Given the description of an element on the screen output the (x, y) to click on. 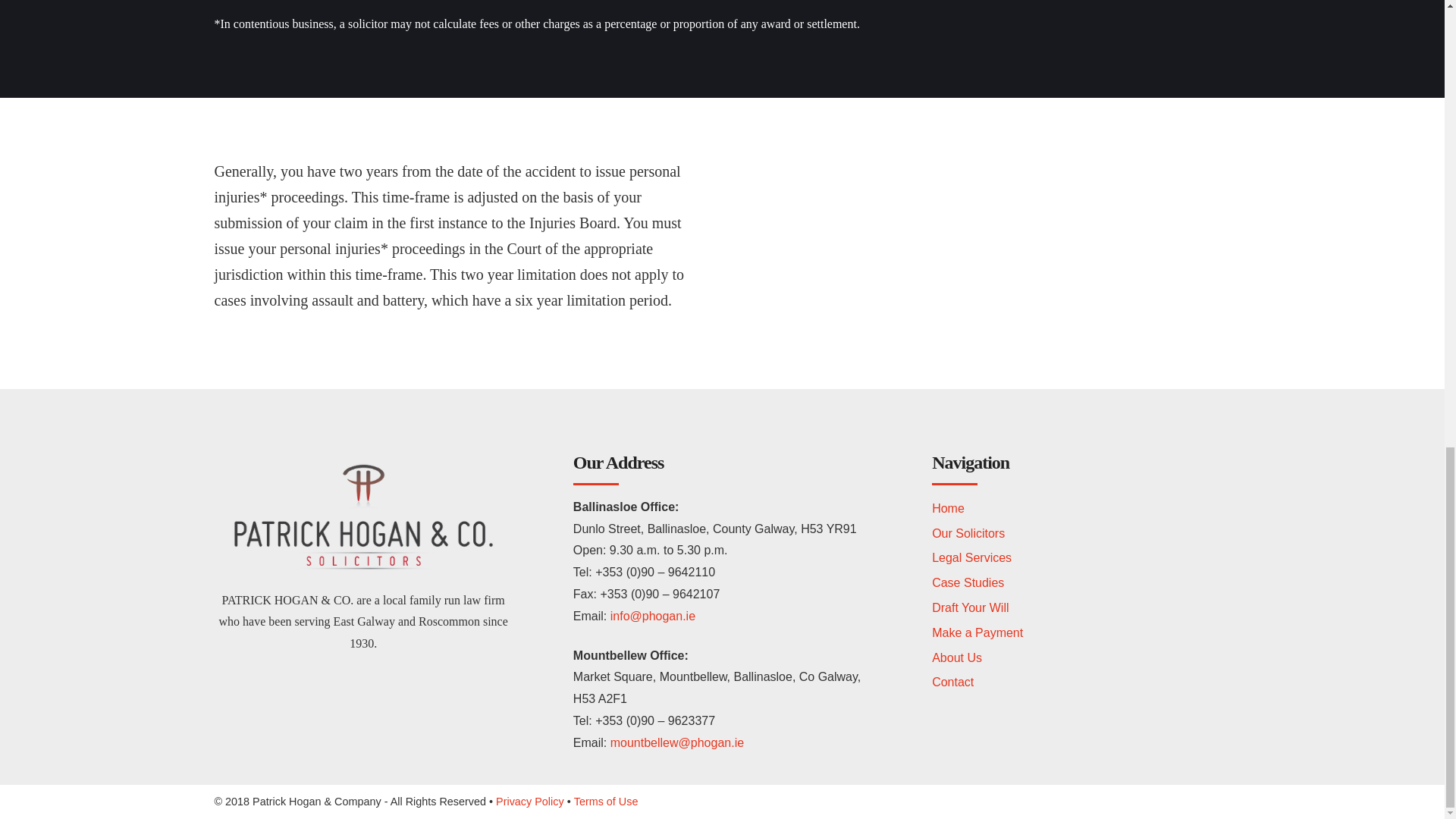
Our Solicitors (967, 533)
Home (947, 508)
Make a Payment (977, 632)
About Us (956, 657)
Case Studies (967, 582)
Privacy Policy (530, 801)
Terms of Use (606, 801)
Contact (952, 681)
Legal Services (971, 557)
Draft Your Will (970, 607)
